Given the description of an element on the screen output the (x, y) to click on. 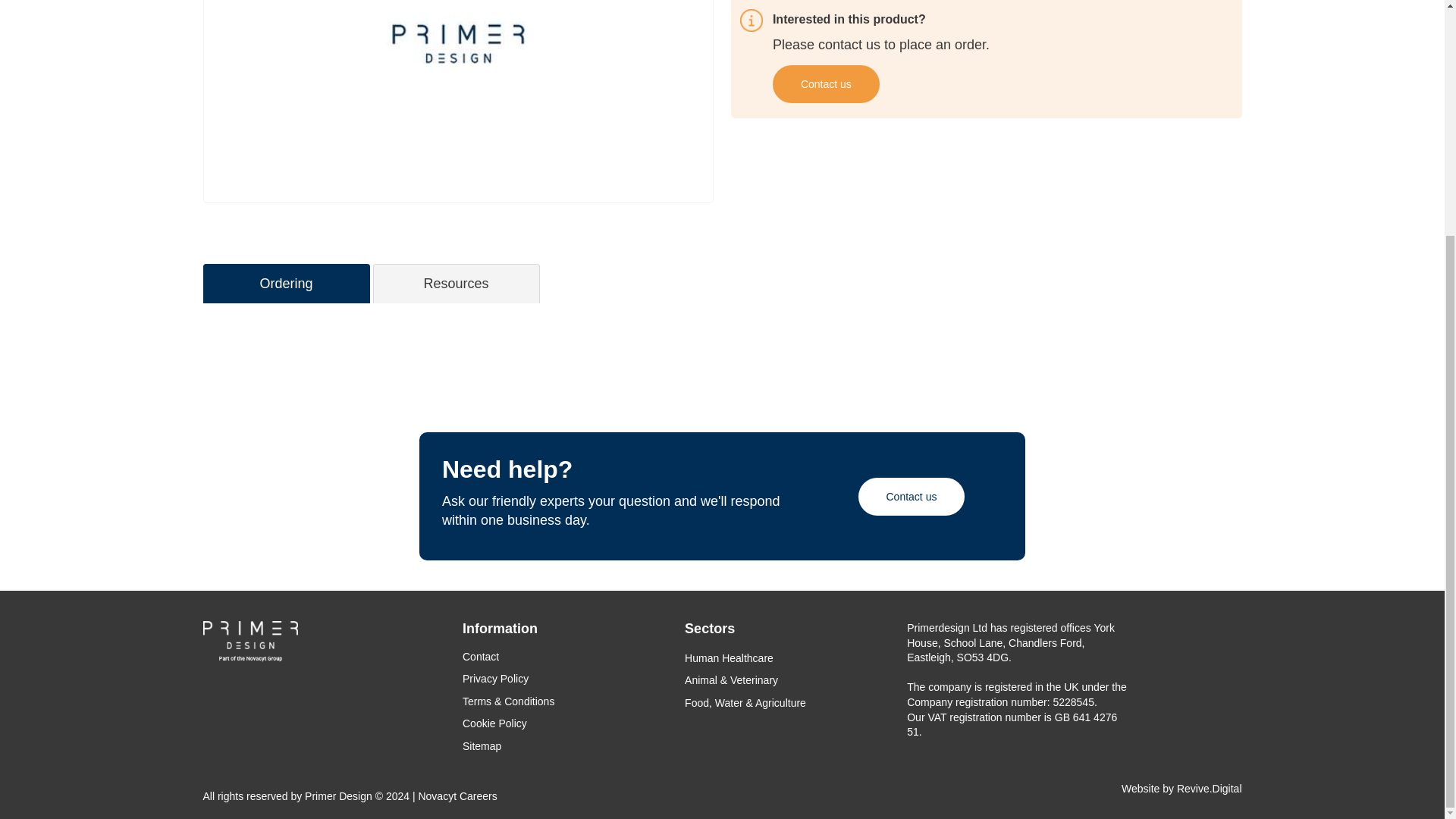
Contact us (912, 496)
Ordering (286, 283)
Cookie Policy (495, 723)
Contact (481, 656)
Revive.Digital (1208, 788)
Novacyt Careers (456, 796)
Resources (455, 283)
Sitemap (481, 746)
Contact us (826, 84)
Privacy Policy (495, 678)
Human Healthcare (728, 657)
